Given the description of an element on the screen output the (x, y) to click on. 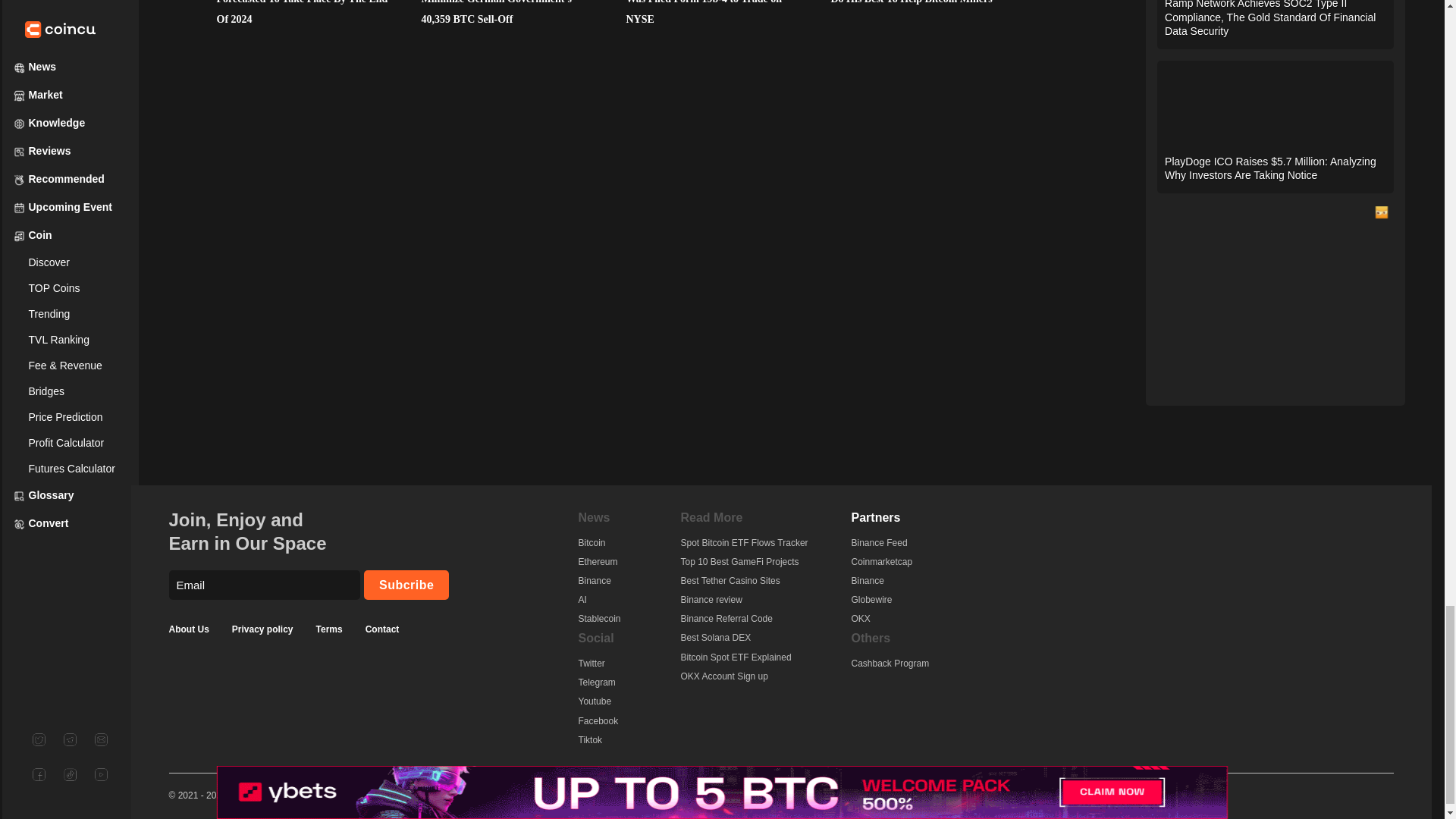
Subcribe (406, 584)
